Given the description of an element on the screen output the (x, y) to click on. 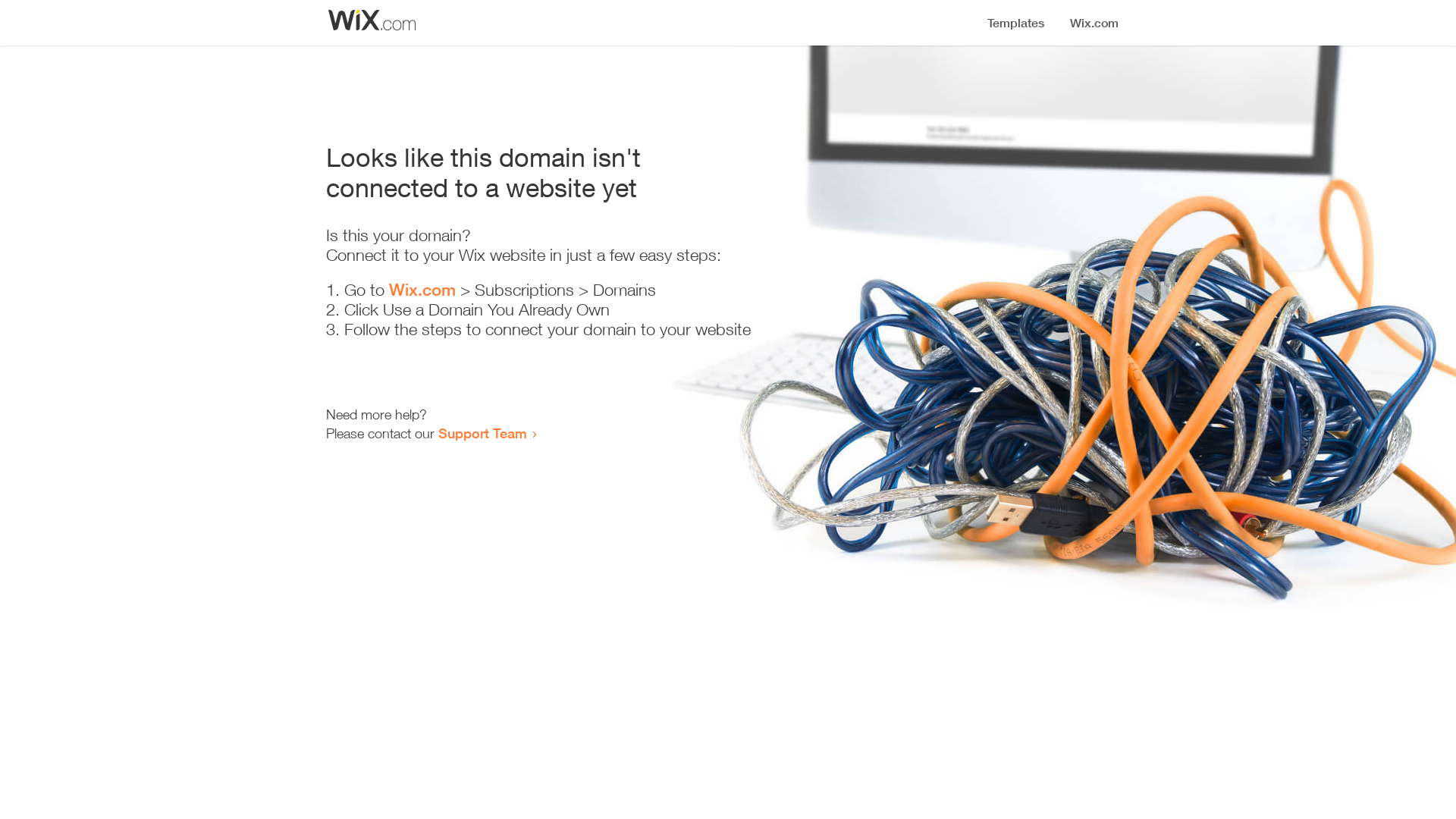
Wix.com Element type: text (422, 289)
Support Team Element type: text (482, 432)
